Given the description of an element on the screen output the (x, y) to click on. 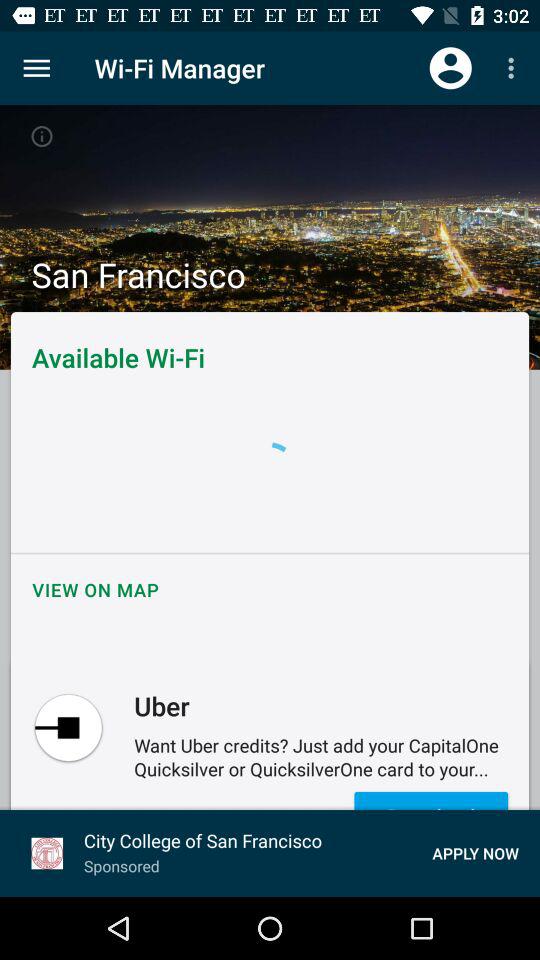
select the information icon at top of the page (42, 136)
